Given the description of an element on the screen output the (x, y) to click on. 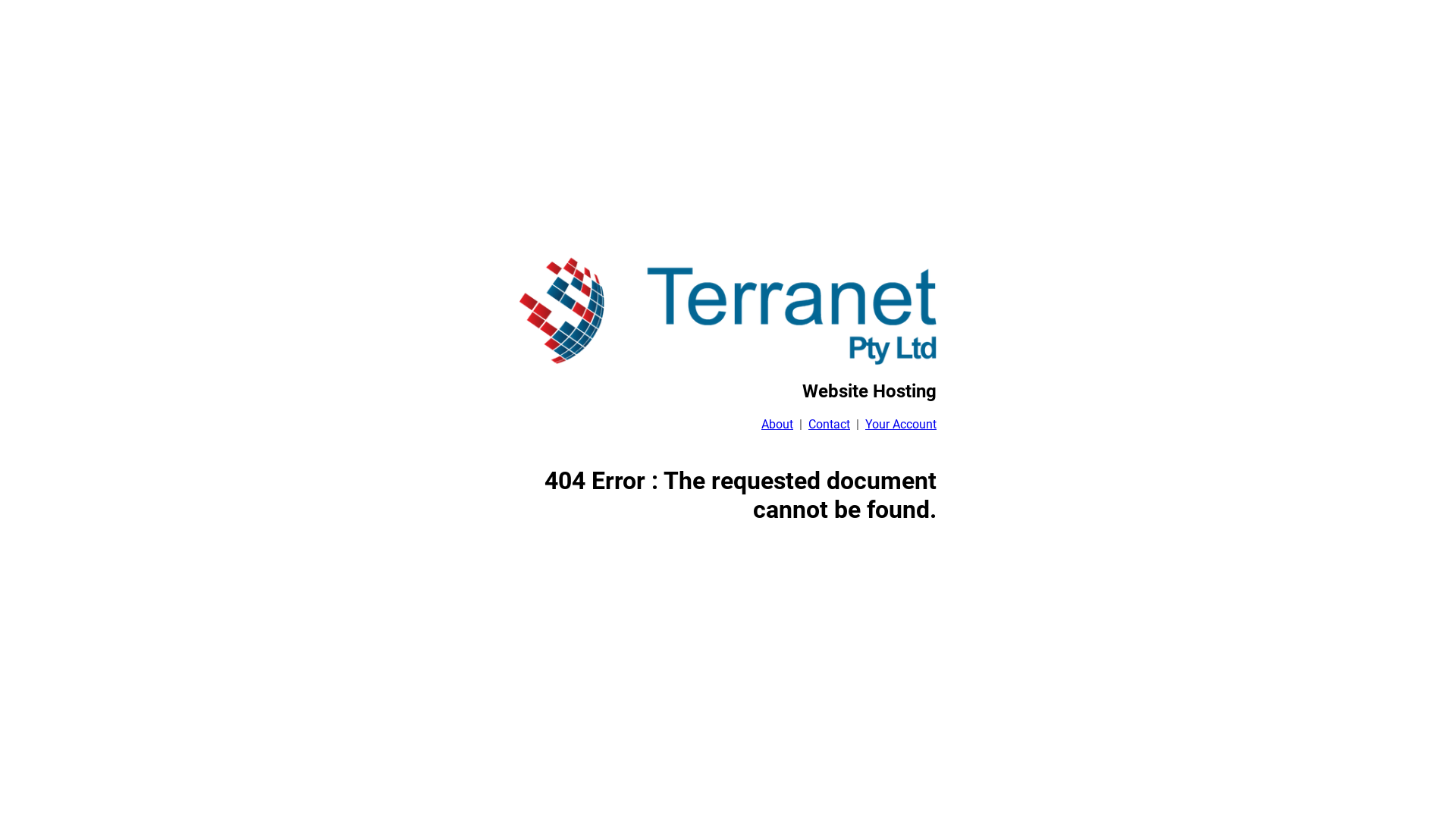
About Element type: text (777, 424)
Your Account Element type: text (900, 424)
Contact Element type: text (829, 424)
